Given the description of an element on the screen output the (x, y) to click on. 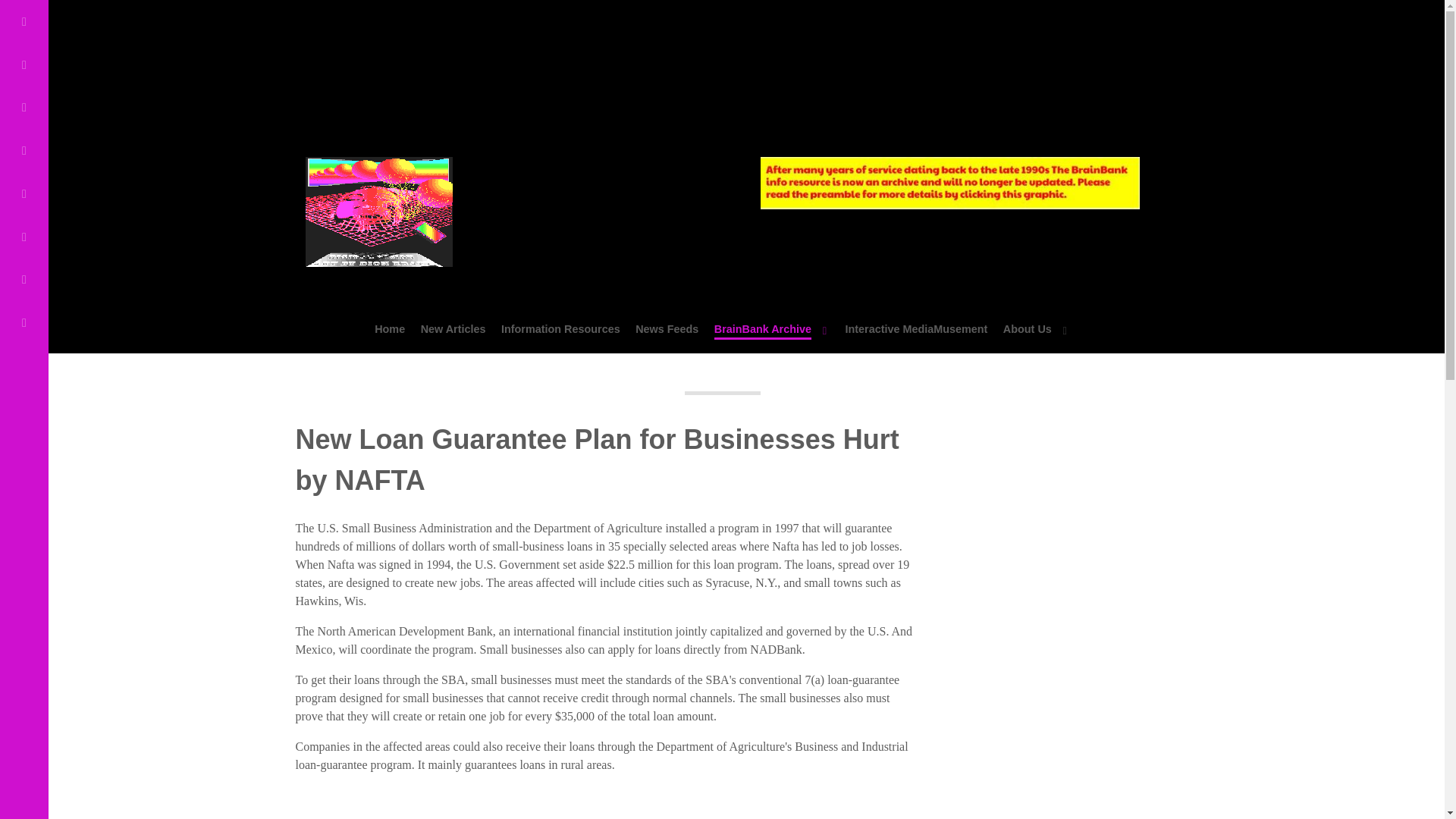
Home (389, 329)
Advertisement (407, 56)
Information Resources (560, 329)
BrainBank Archive (771, 328)
New Articles (453, 329)
News Feeds (666, 329)
About Us (1036, 328)
Interactive MediaMusement (915, 329)
